Given the description of an element on the screen output the (x, y) to click on. 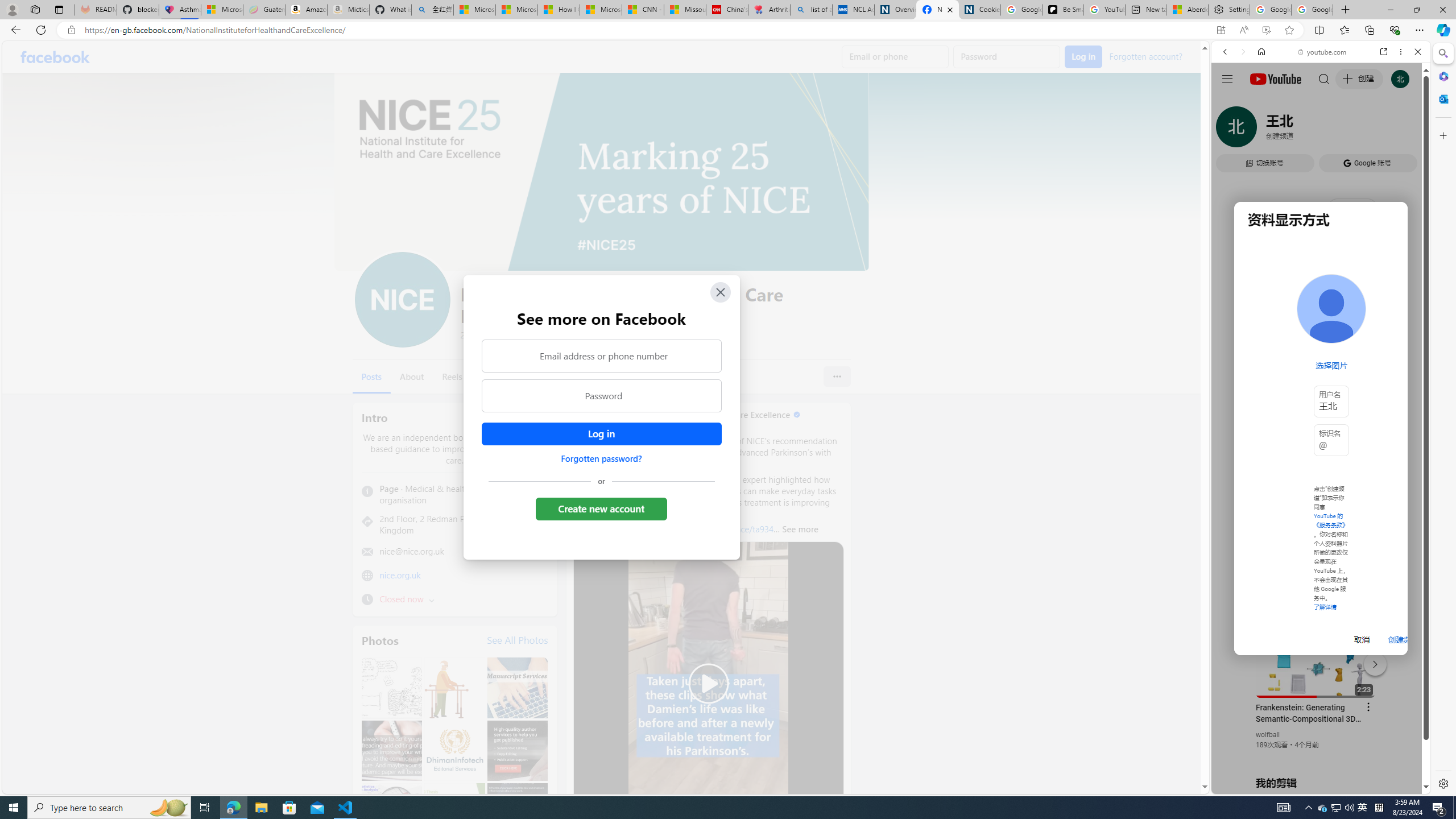
wolfball (1268, 734)
